Given the description of an element on the screen output the (x, y) to click on. 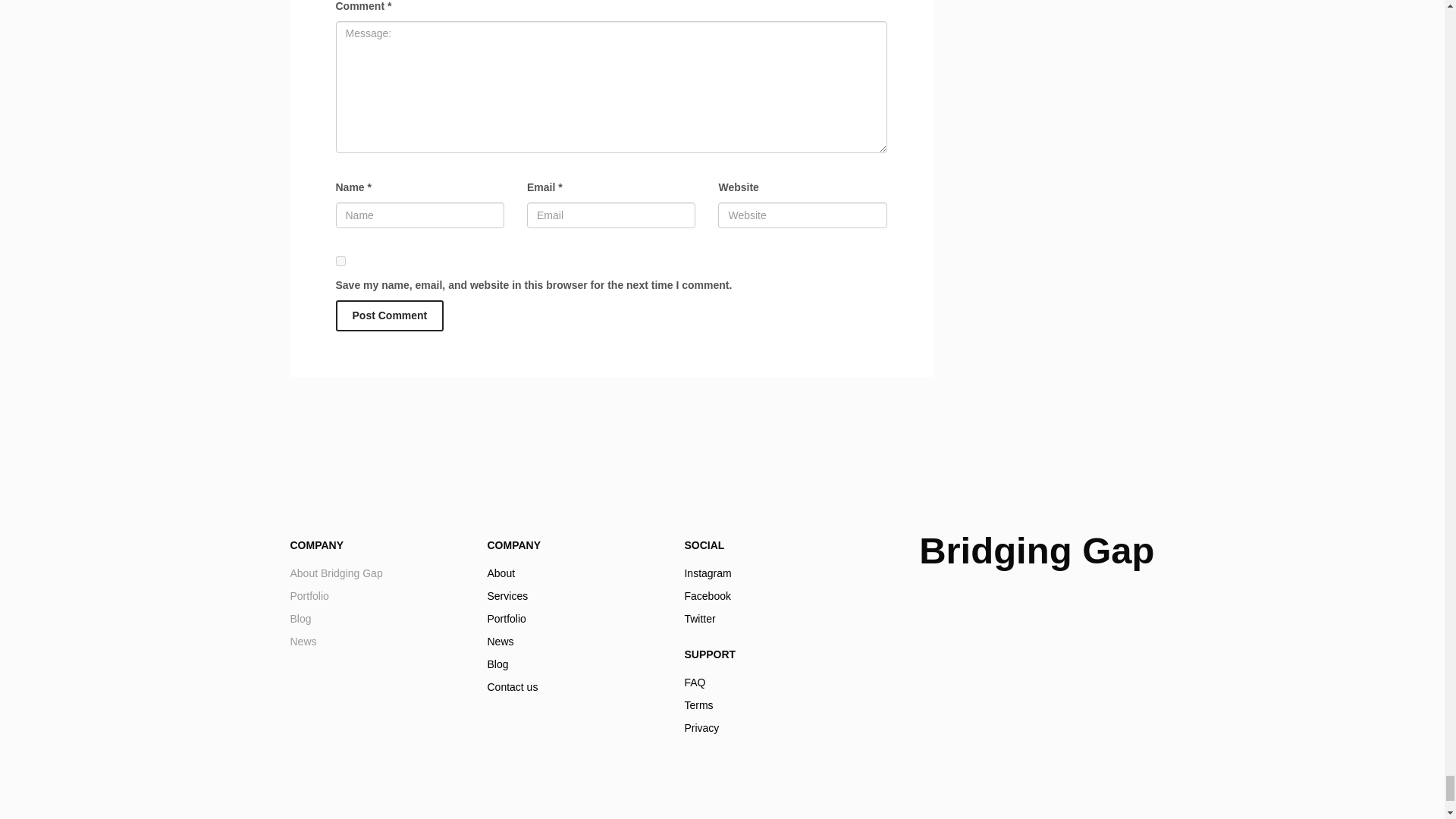
Post Comment (771, 704)
yes (376, 606)
